Given the description of an element on the screen output the (x, y) to click on. 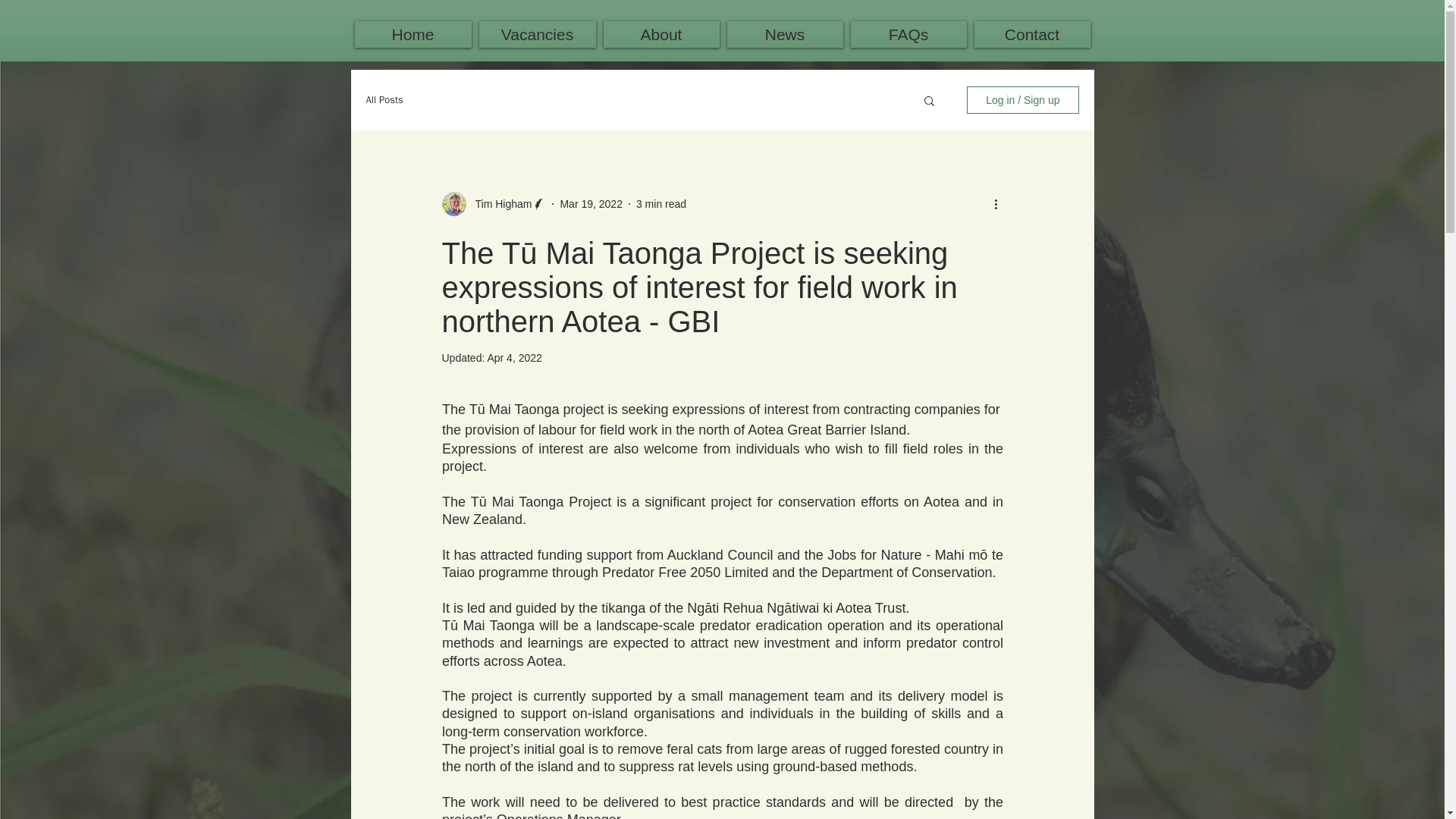
Contact (1031, 34)
Vacancies (537, 34)
Apr 4, 2022 (513, 357)
About (661, 34)
News (784, 34)
Tim Higham (498, 203)
3 min read (660, 203)
Home (413, 34)
FAQs (908, 34)
Mar 19, 2022 (591, 203)
All Posts (384, 100)
